Given the description of an element on the screen output the (x, y) to click on. 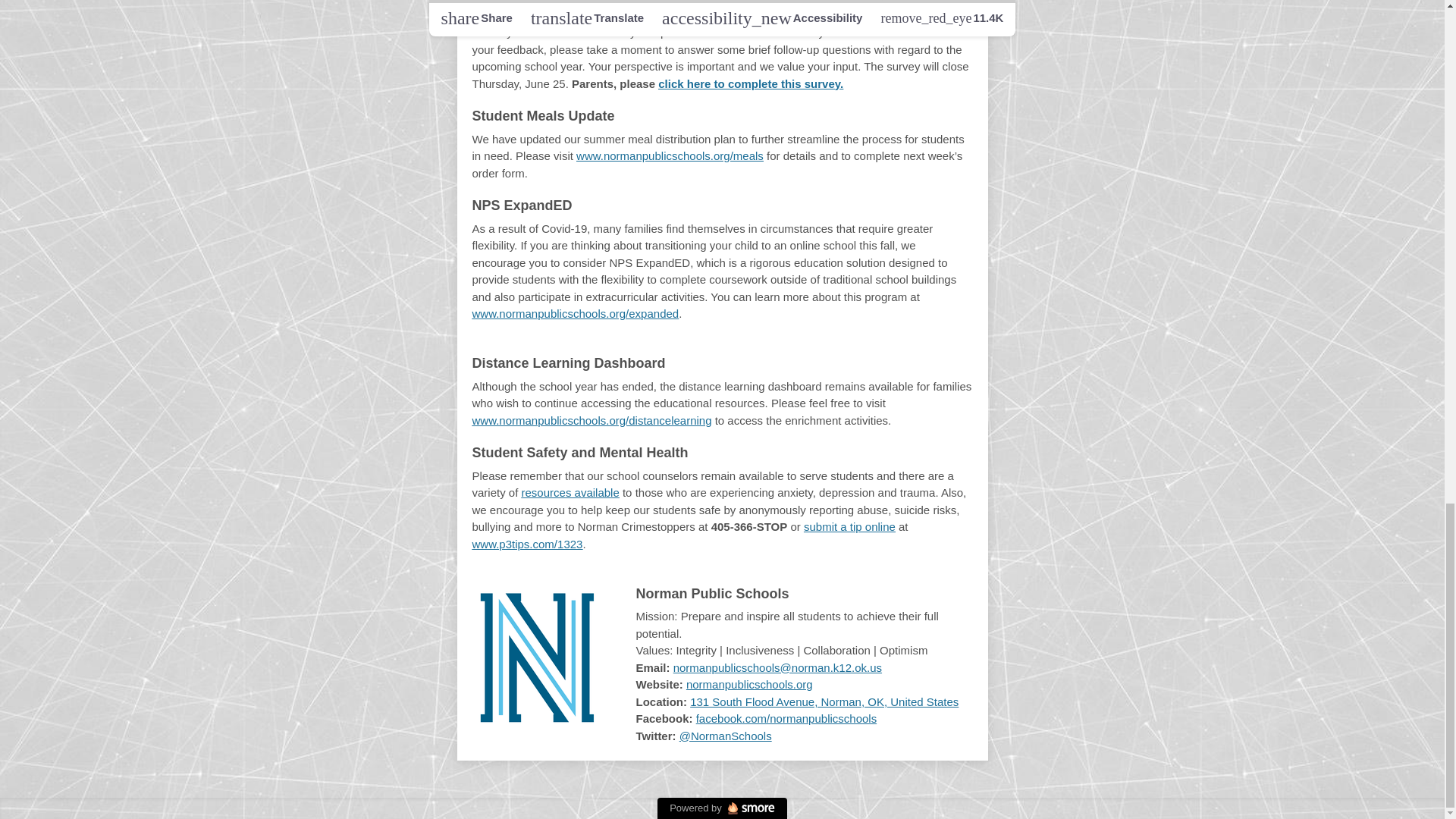
normanpublicschools.org (748, 684)
resources available (570, 492)
Powered by Smore (721, 807)
click here to complete this survey. (750, 83)
Powered by (721, 807)
131 South Flood Avenue, Norman, OK, United States (824, 700)
submit a tip online (849, 526)
